Given the description of an element on the screen output the (x, y) to click on. 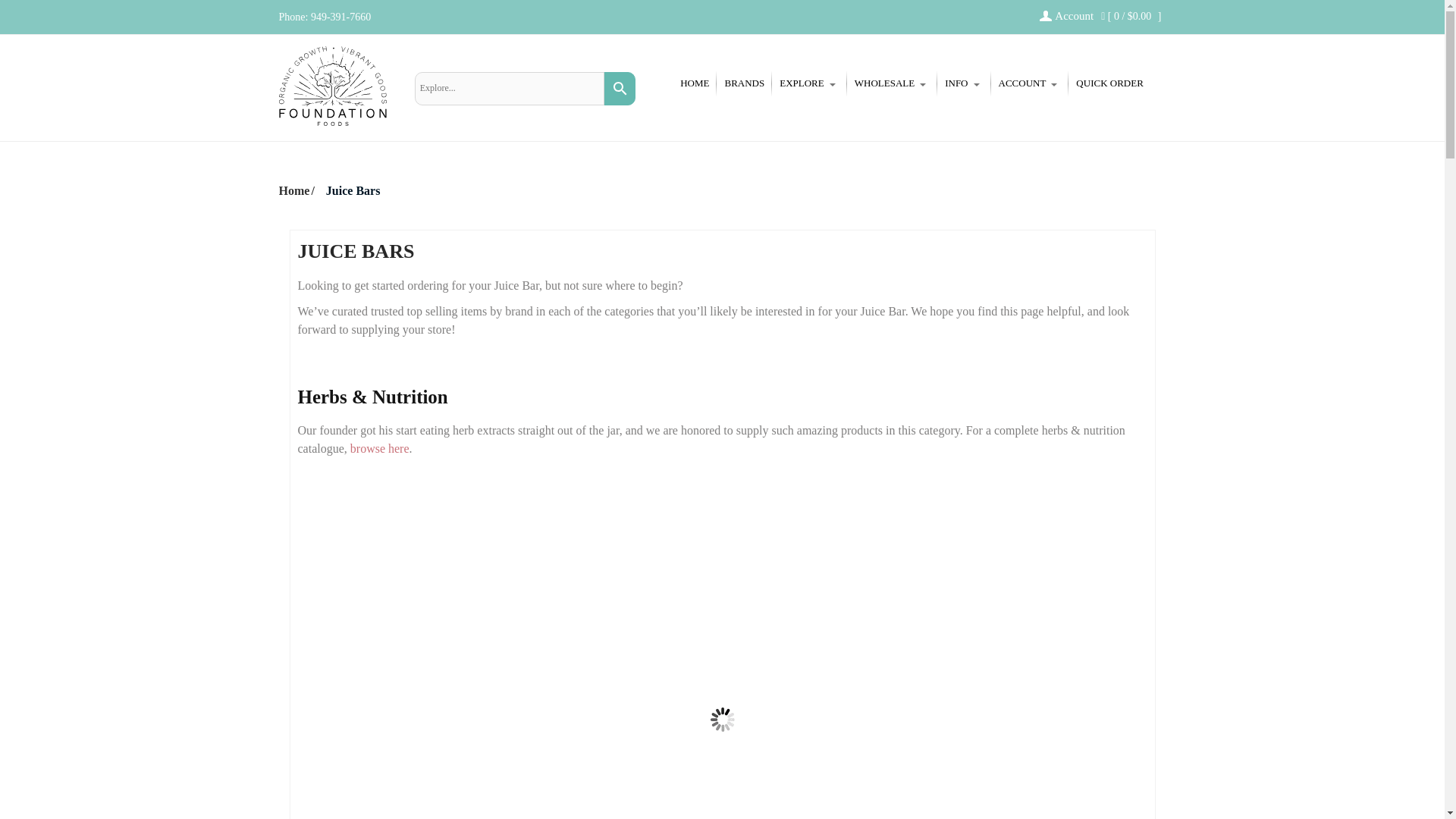
BRANDS (743, 82)
EXPLORE (809, 82)
View your shopping cart (1130, 16)
Account (1066, 15)
HOME (694, 82)
